Given the description of an element on the screen output the (x, y) to click on. 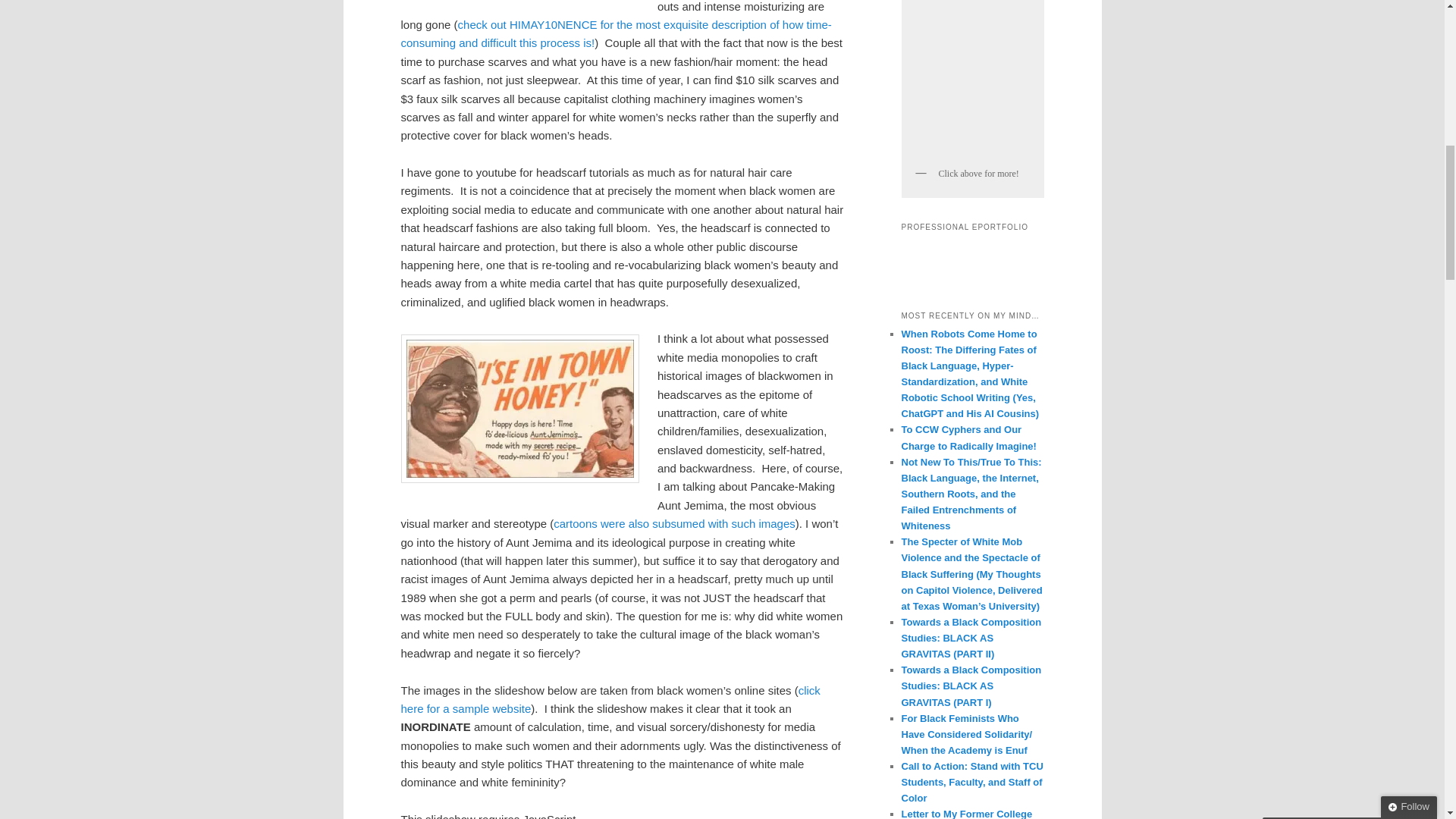
Sign me up! (1320, 192)
Email Address (1348, 162)
cartoons were also subsumed with such images (673, 522)
click here for a sample website (609, 698)
